Given the description of an element on the screen output the (x, y) to click on. 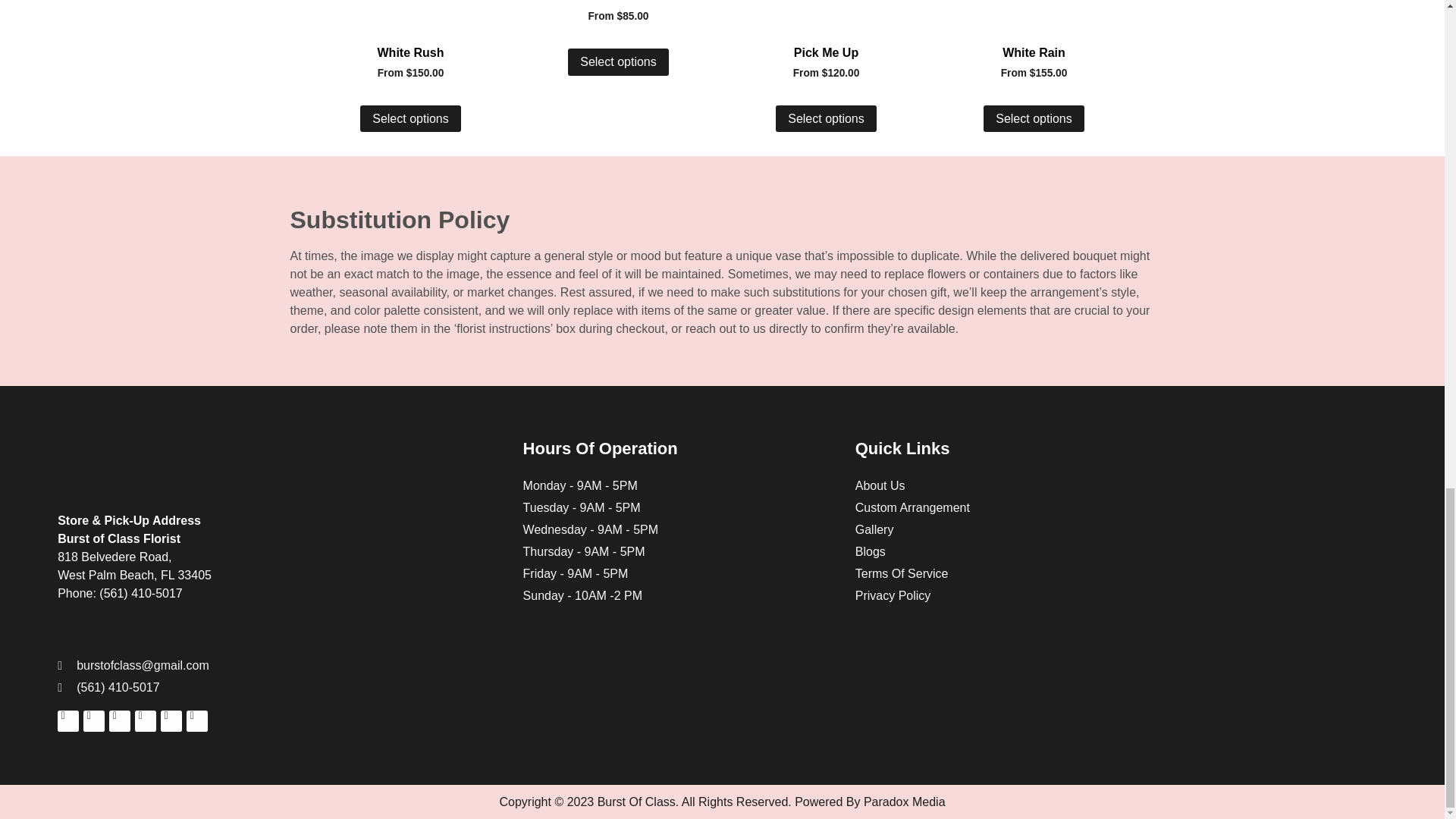
818 Belvedere Rd, West Palm Beach, FL 33405, USA (1254, 546)
